Given the description of an element on the screen output the (x, y) to click on. 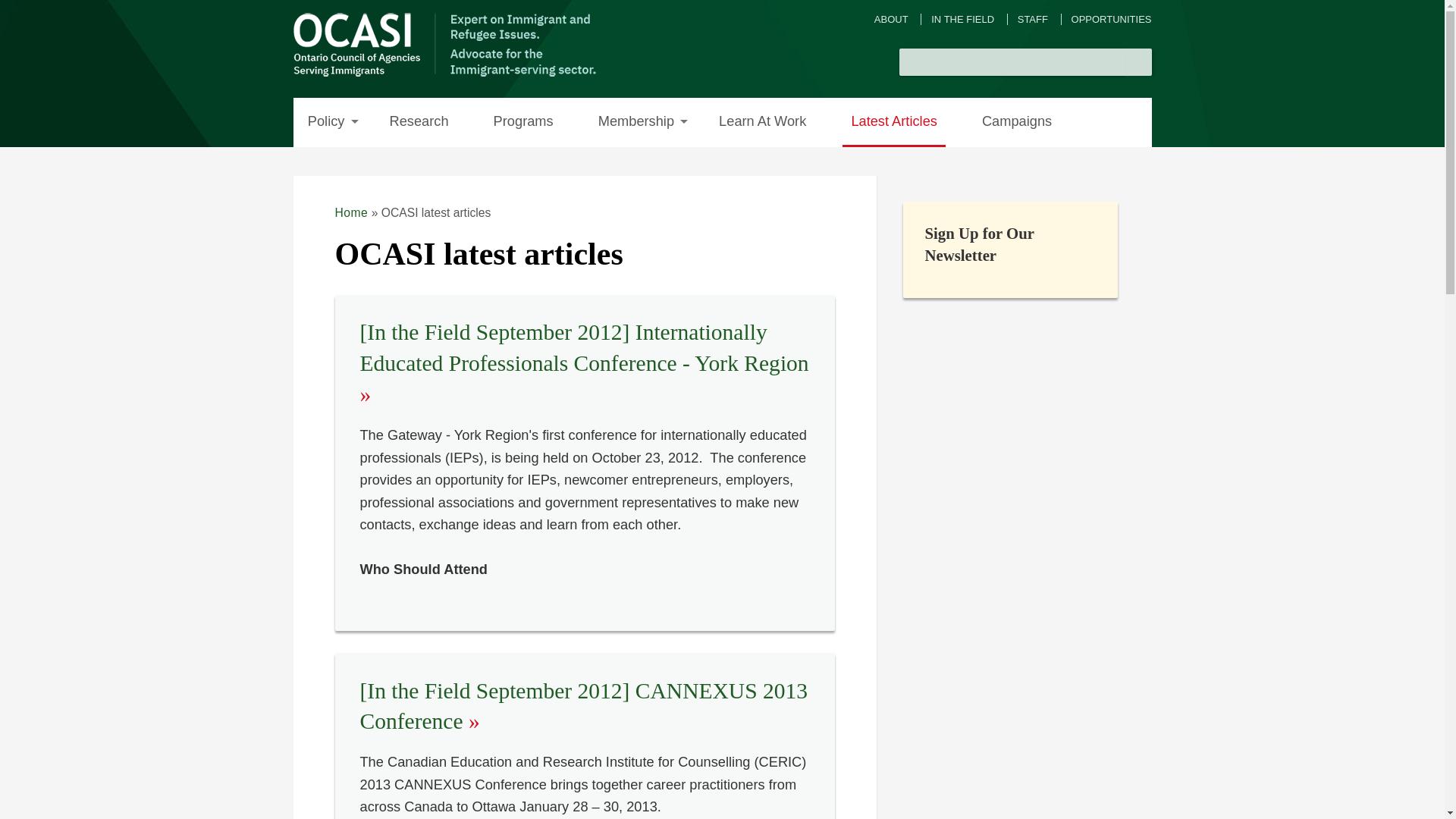
Membership (635, 122)
Search (1137, 62)
IN THE FIELD (962, 19)
OPPORTUNITIES (1111, 19)
Home (351, 212)
STAFF (1032, 19)
Research (418, 122)
Learn At Work (762, 122)
Enter the terms you wish to search for. (1011, 62)
Policy (325, 122)
